Given the description of an element on the screen output the (x, y) to click on. 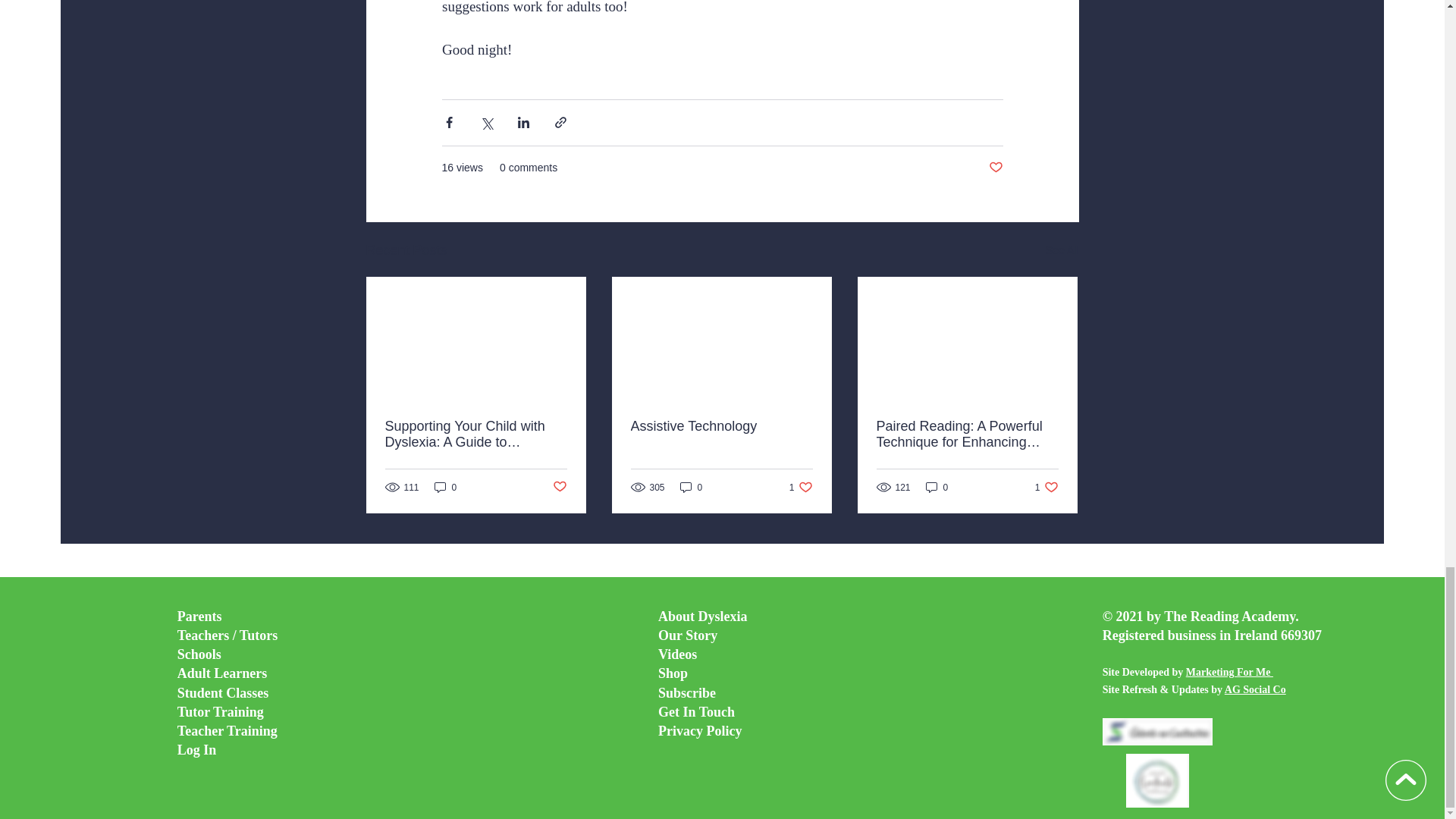
Parents (199, 616)
Post not marked as liked (800, 486)
0 (558, 487)
See All (691, 486)
0 (1061, 250)
Assistive Technology (937, 486)
